Given the description of an element on the screen output the (x, y) to click on. 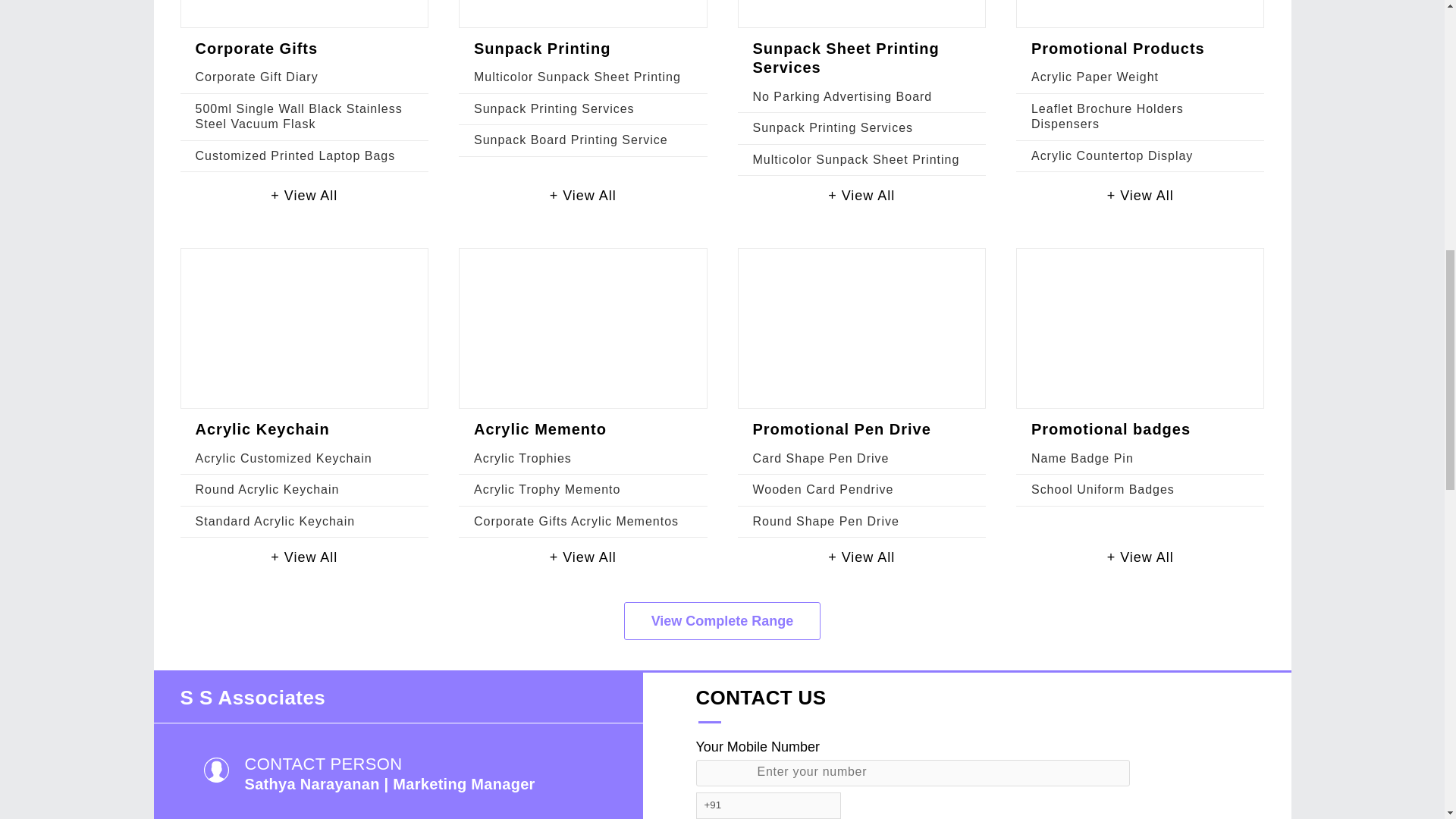
Sunpack Board Printing Service (571, 139)
No Parking Advertising Board (841, 96)
Sunpack Printing (542, 48)
Sunpack Printing Services (832, 127)
Sunpack Printing Services (554, 108)
500ml Single Wall Black Stainless Steel Vacuum Flask (299, 116)
Customized Printed Laptop Bags (295, 155)
Corporate Gifts (256, 48)
Sunpack Sheet Printing Services (845, 58)
Corporate Gift Diary (256, 76)
